Given the description of an element on the screen output the (x, y) to click on. 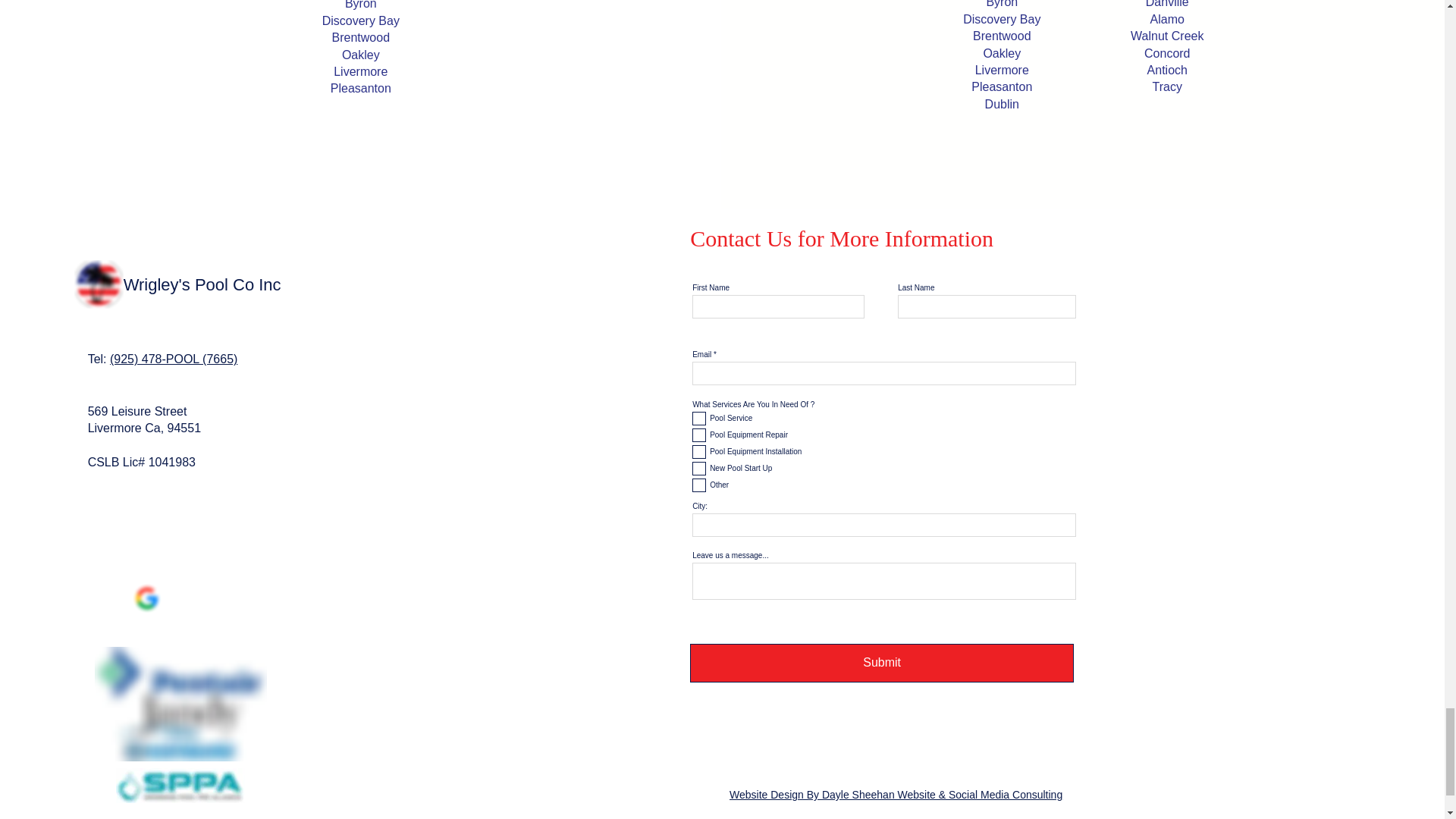
Wrigley's Pool Co.  (98, 284)
Wrigley's Pool Co.  (180, 704)
Wrigley's Pool Co.  (180, 785)
